Given the description of an element on the screen output the (x, y) to click on. 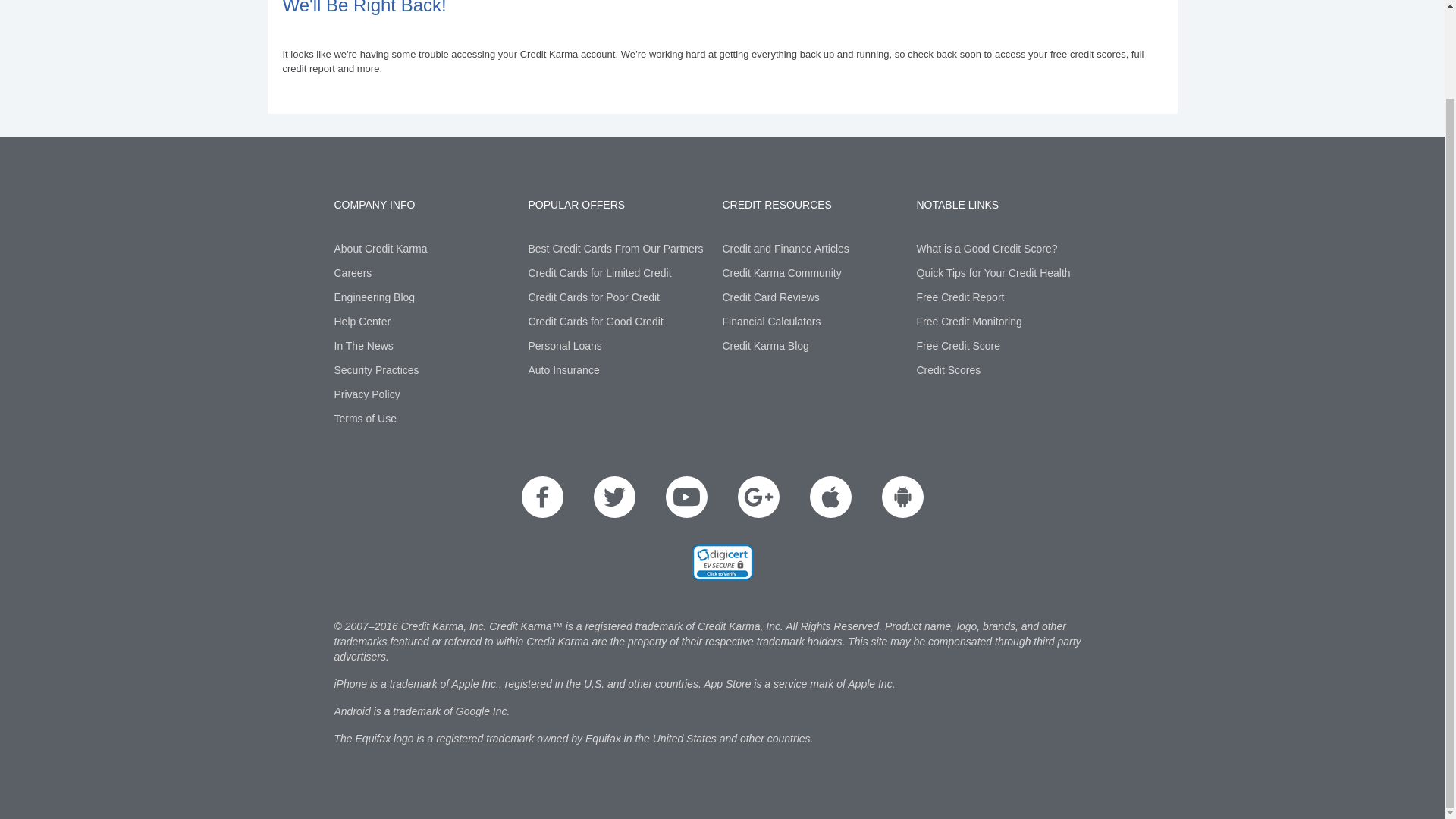
Download Android App (901, 496)
Google Plus (757, 496)
YouTube (686, 496)
Download iOS App (830, 496)
Facebook (542, 496)
Twitter (613, 496)
